Given the description of an element on the screen output the (x, y) to click on. 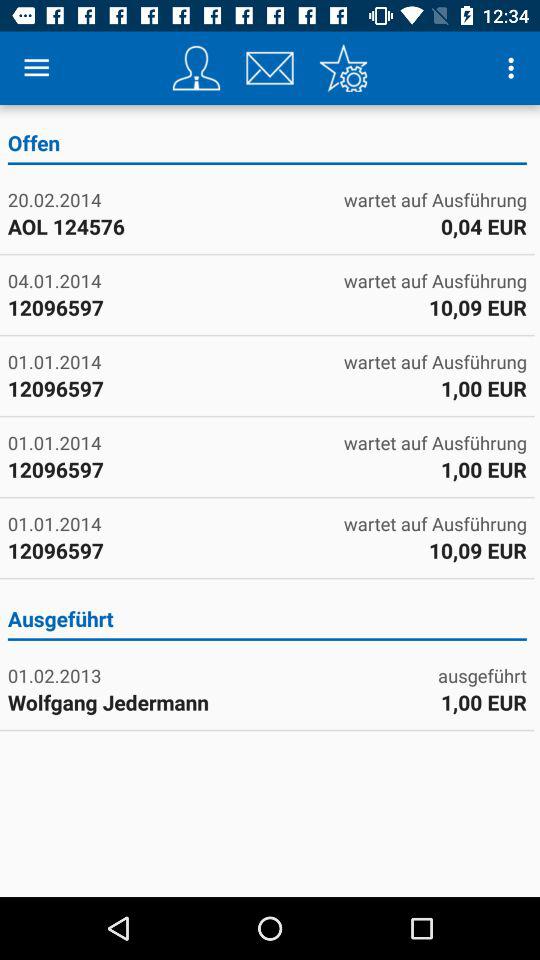
launch the 0,04 eur (483, 226)
